Given the description of an element on the screen output the (x, y) to click on. 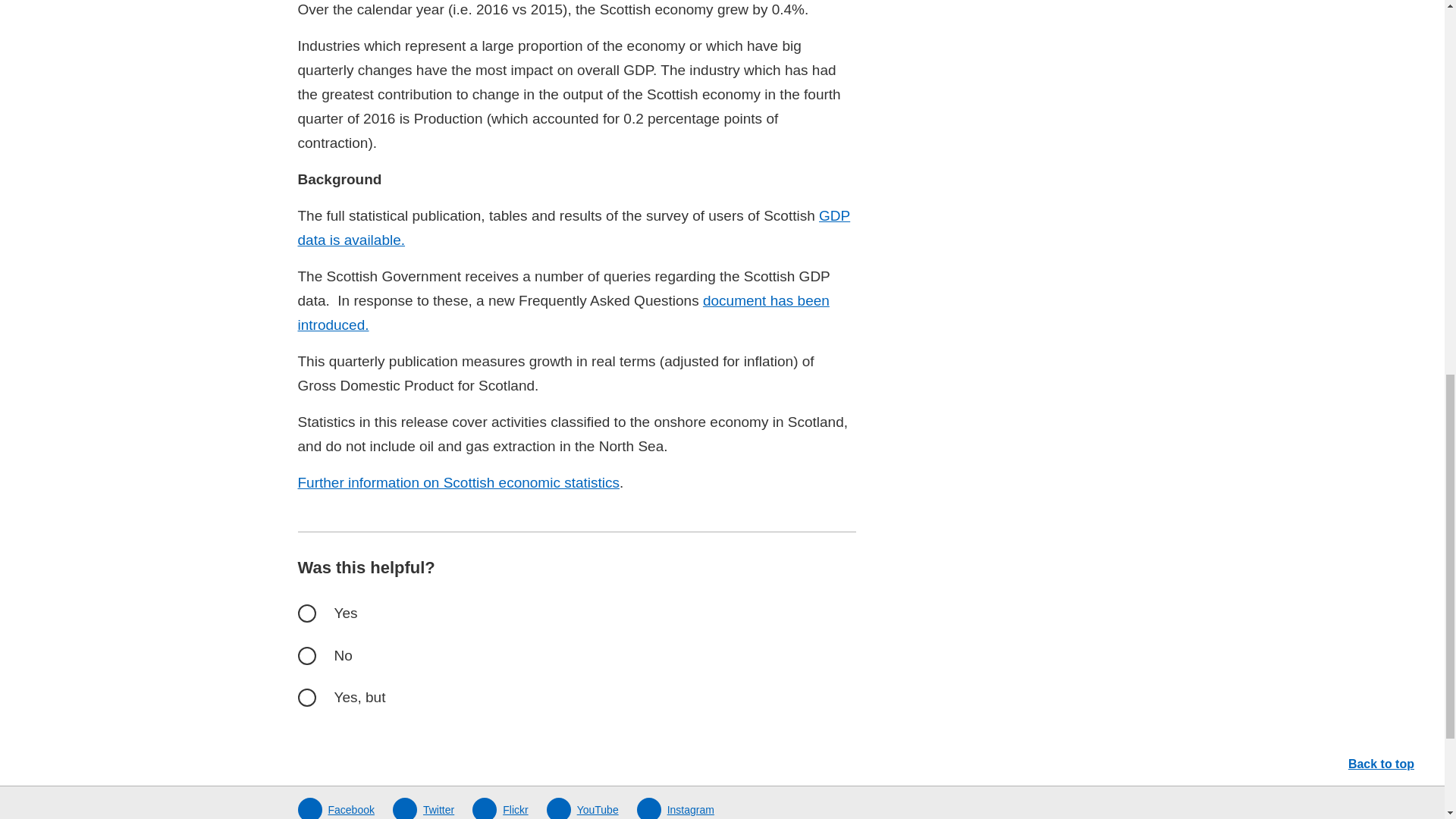
GDP data is available. (573, 228)
Facebook (335, 808)
Twitter (423, 808)
Flickr (499, 808)
YouTube (582, 808)
Further information on Scottish economic statistics (458, 482)
YouTube (582, 808)
Twitter (423, 808)
Back to top (1387, 14)
document has been introduced. (562, 312)
Instagram (675, 808)
Facebook (335, 808)
Flickr (499, 808)
